Given the description of an element on the screen output the (x, y) to click on. 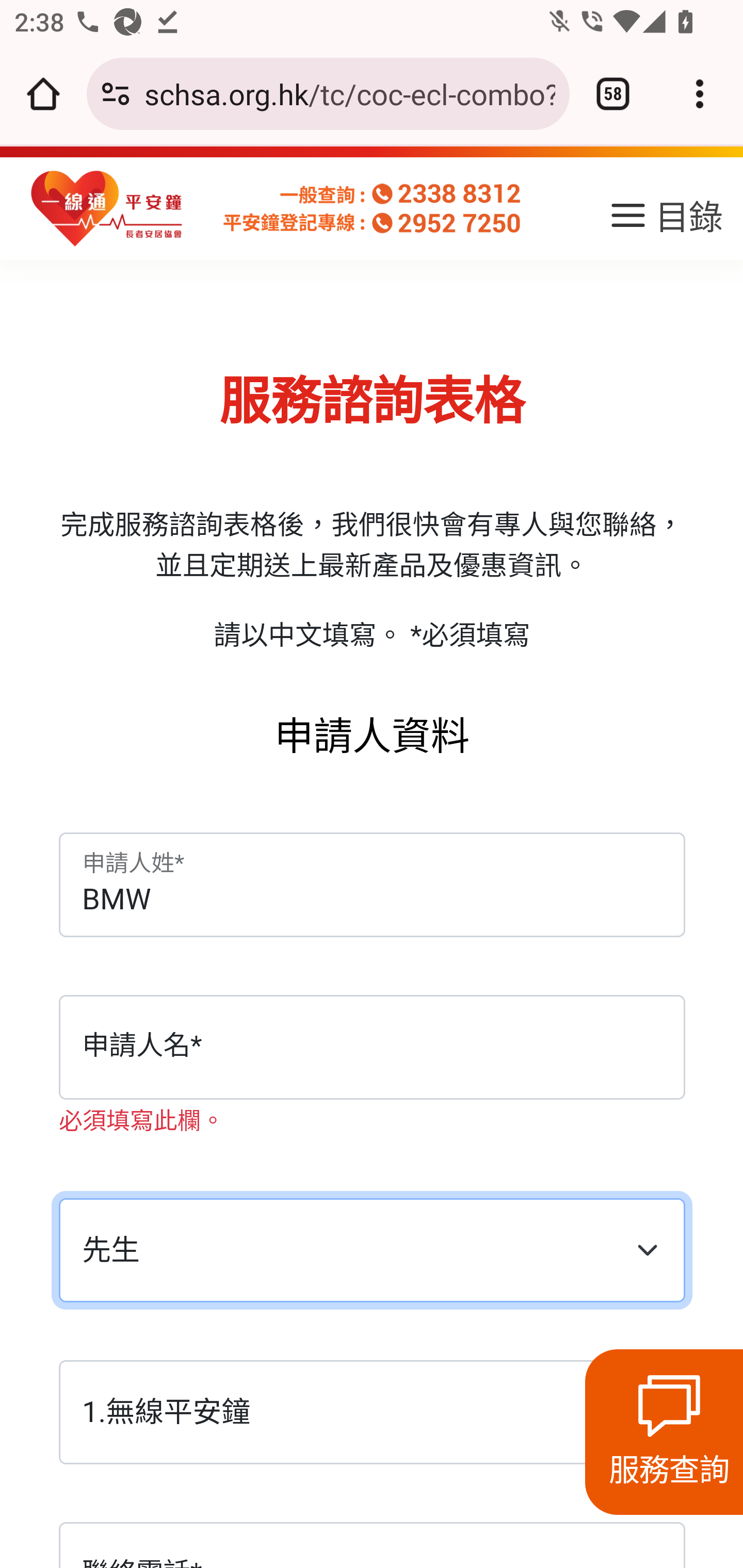
Open the home page (43, 93)
Connection is secure (115, 93)
Switch or close tabs (612, 93)
Customize and control Google Chrome (699, 93)
homepage (107, 209)
BMW (371, 886)
先生 (371, 1250)
1.無線平安鐘 (371, 1414)
